Given the description of an element on the screen output the (x, y) to click on. 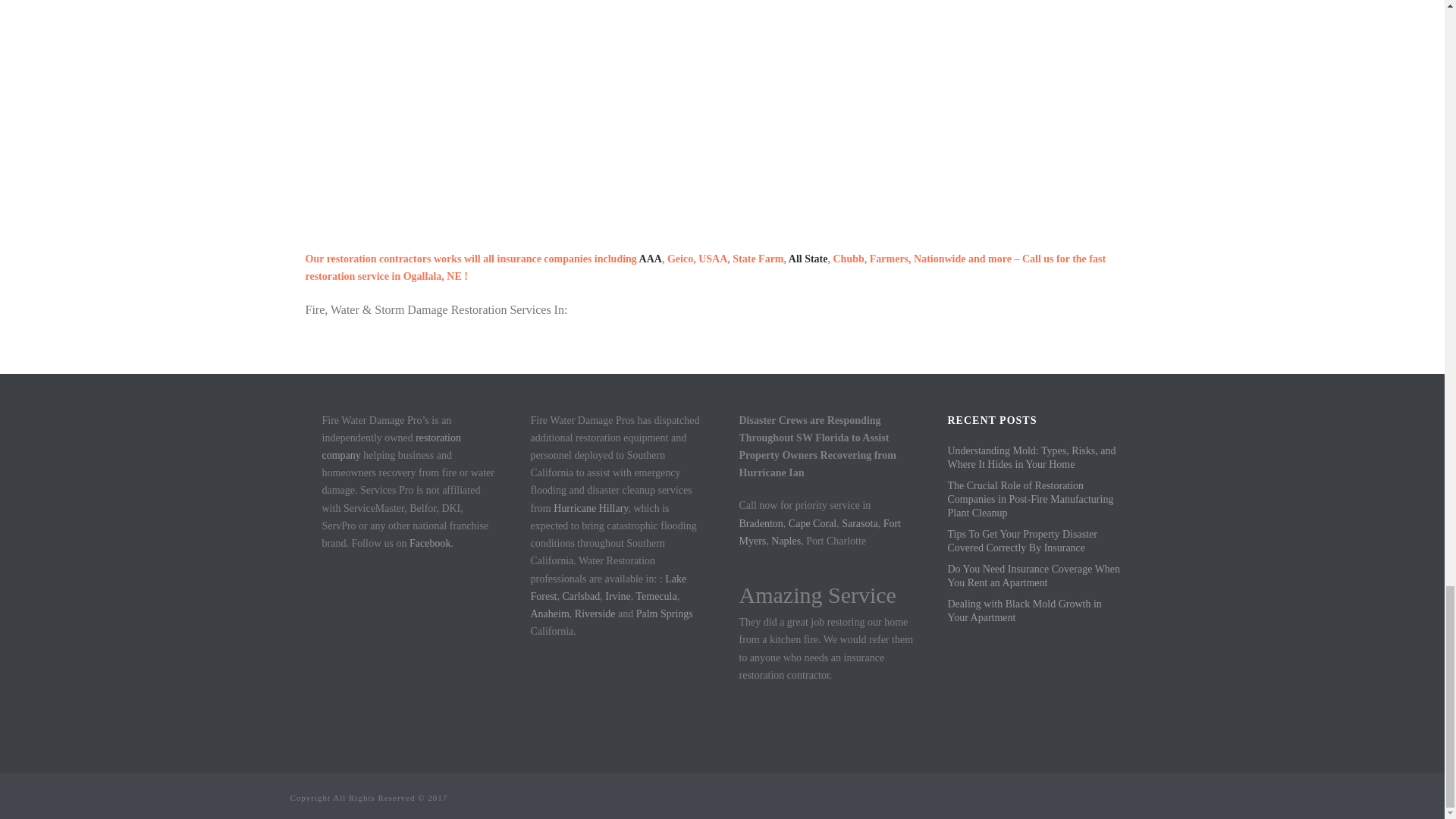
Carlsbad (580, 595)
Lake Forest (609, 587)
Facebook (429, 542)
DMCA.com Protection Status (408, 609)
AAA (650, 258)
Hurricane Hillary (590, 508)
restoration company (391, 446)
All State (808, 258)
